Given the description of an element on the screen output the (x, y) to click on. 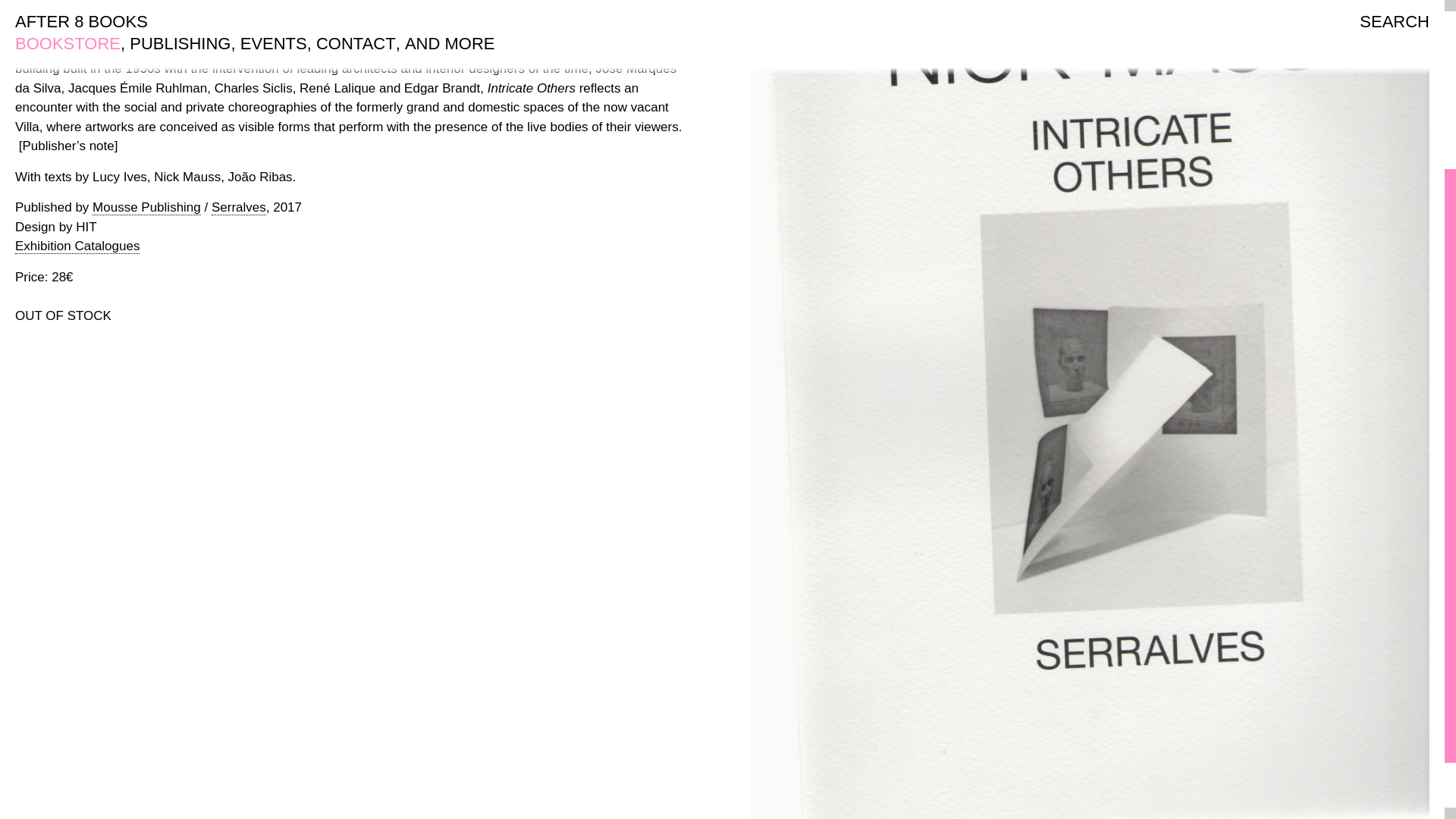
Serralves (238, 207)
Exhibition Catalogues (76, 246)
Mousse Publishing (146, 207)
